Given the description of an element on the screen output the (x, y) to click on. 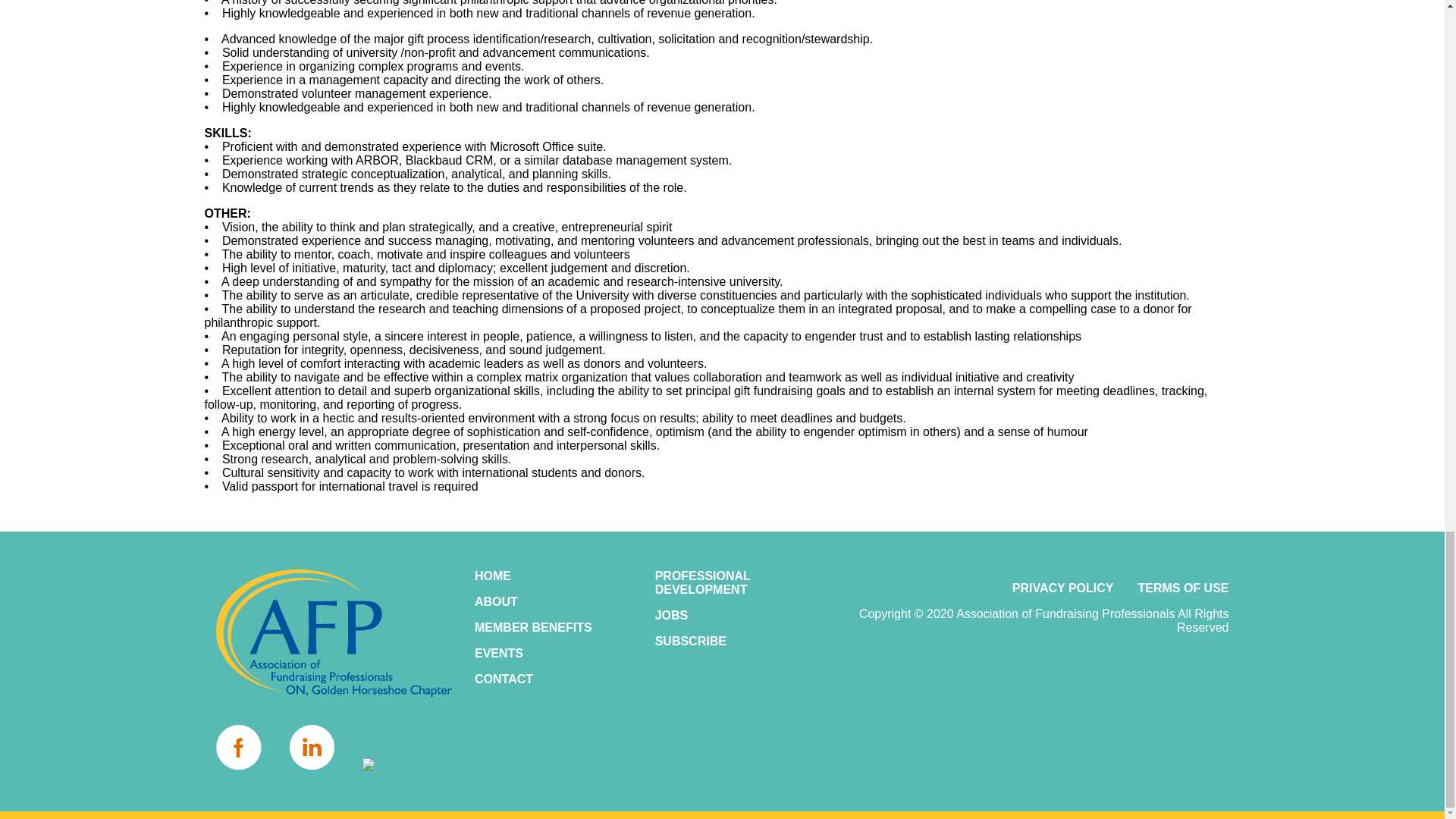
SUBSCRIBE (733, 641)
EVENTS (552, 653)
MEMBER BENEFITS (552, 627)
HOME (552, 576)
PROFESSIONAL DEVELOPMENT (733, 583)
JOBS (733, 615)
TERMS OF USE (1182, 587)
ABOUT (552, 602)
CONTACT (552, 679)
PRIVACY POLICY (1062, 587)
